Given the description of an element on the screen output the (x, y) to click on. 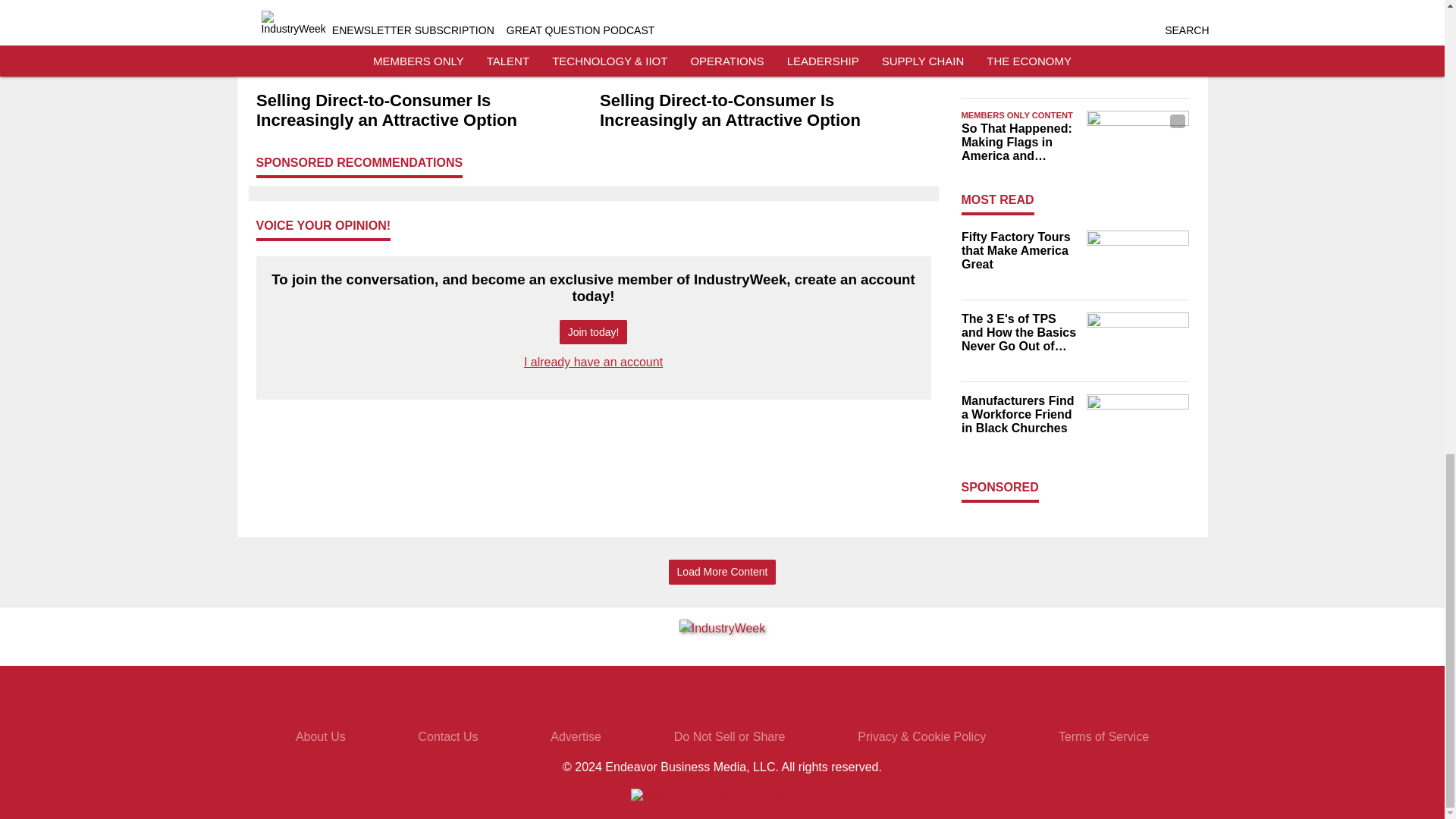
Join today! (593, 332)
I already have an account (593, 361)
Reshoring Takes Hold Across Multiple Industries (1019, 48)
